Given the description of an element on the screen output the (x, y) to click on. 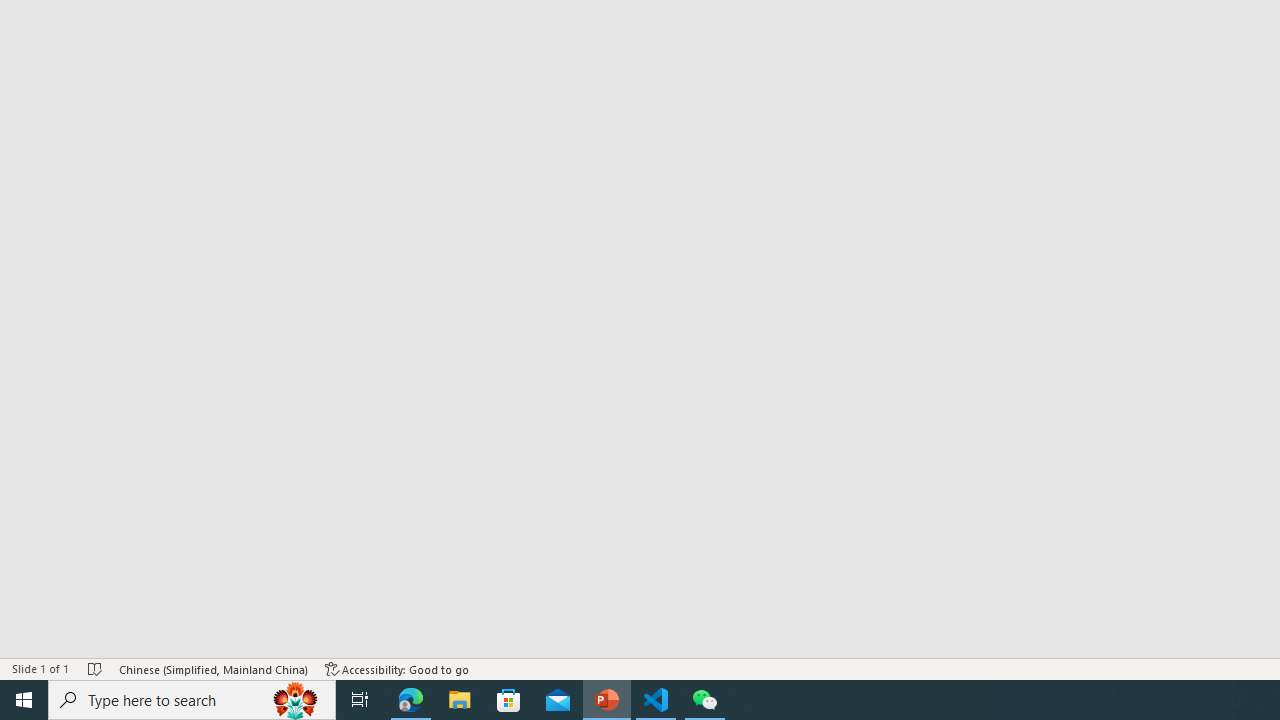
Accessibility Checker Accessibility: Good to go (397, 668)
